Given the description of an element on the screen output the (x, y) to click on. 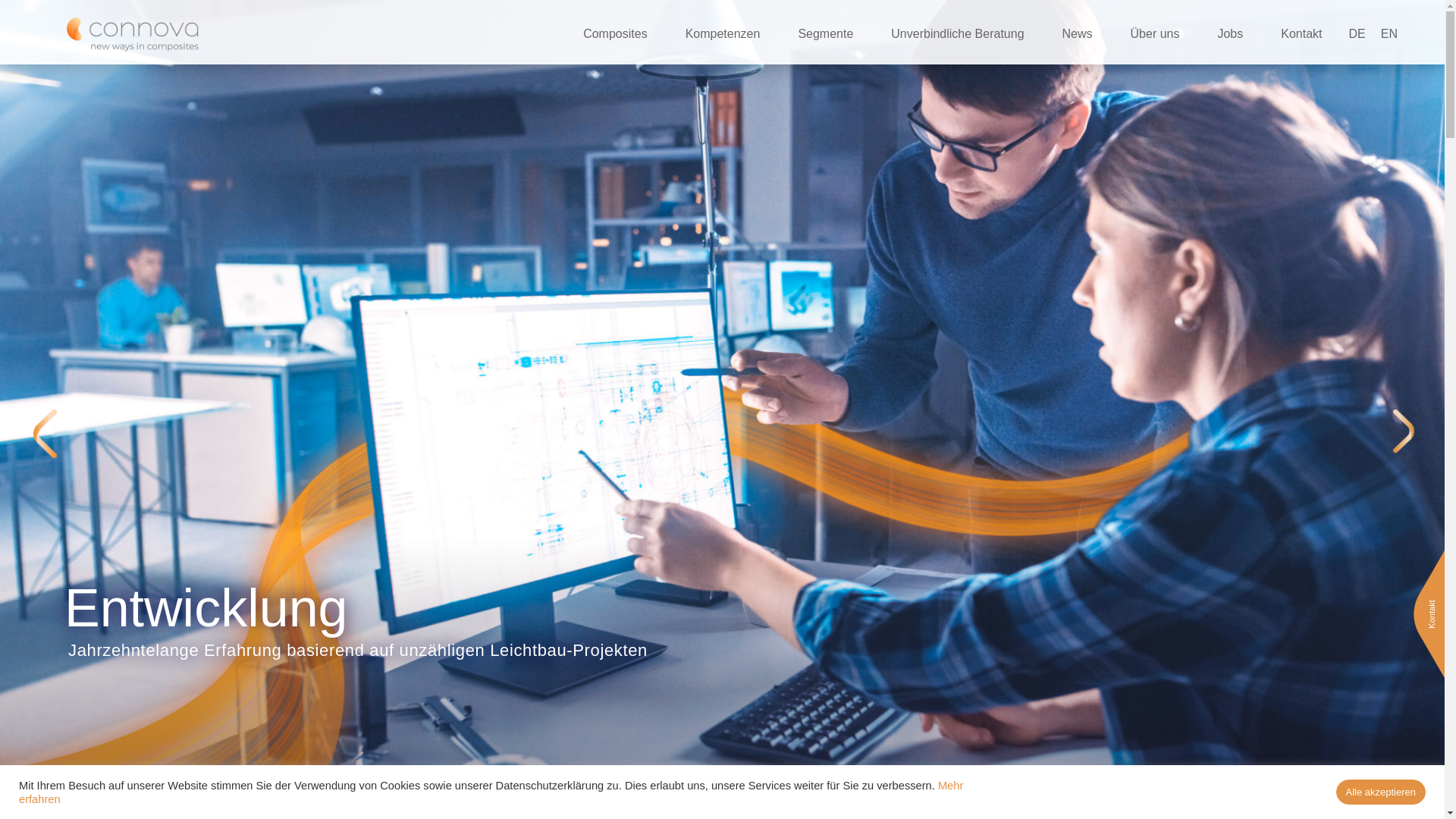
News Element type: text (1085, 33)
Kompetenzen Element type: text (730, 33)
Kontakt Element type: text (1308, 33)
Jetzt unverbindliche Beratung anfordern Element type: text (722, 783)
Jobs Element type: text (1237, 33)
Alle akzeptieren Element type: text (1381, 791)
Composites Element type: text (622, 33)
EN Element type: text (1389, 33)
DE Element type: text (1361, 33)
Mehr erfahren Element type: text (490, 792)
Unverbindliche Beratung Element type: text (964, 33)
Kontakt Element type: text (1440, 603)
Segmente Element type: text (832, 33)
